Given the description of an element on the screen output the (x, y) to click on. 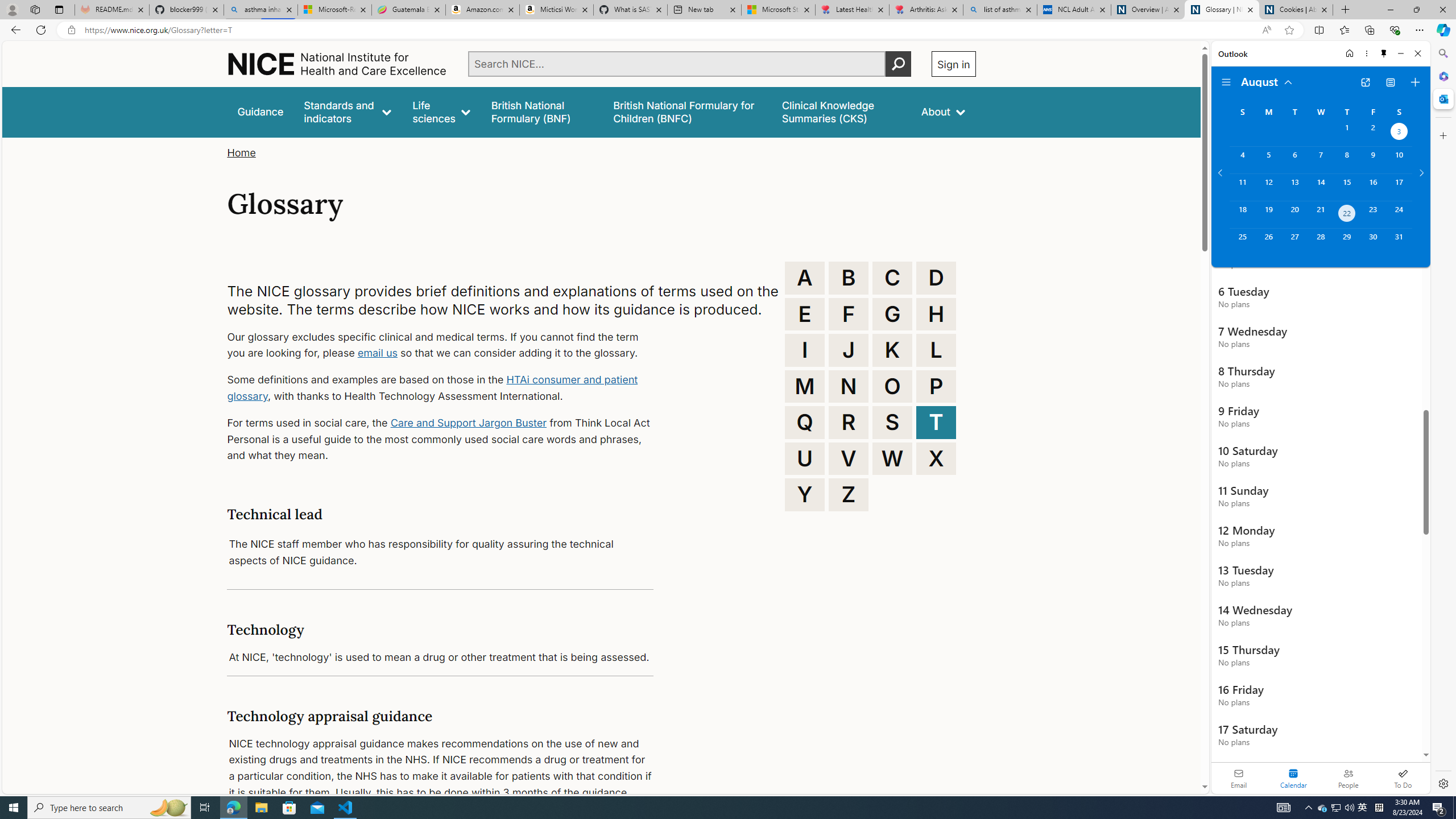
I (804, 350)
Monday, August 19, 2024.  (1268, 214)
P (935, 385)
J (848, 350)
Saturday, August 24, 2024.  (1399, 214)
O (892, 385)
Saturday, August 3, 2024. Date selected.  (1399, 132)
Open in new tab (1365, 82)
